Given the description of an element on the screen output the (x, y) to click on. 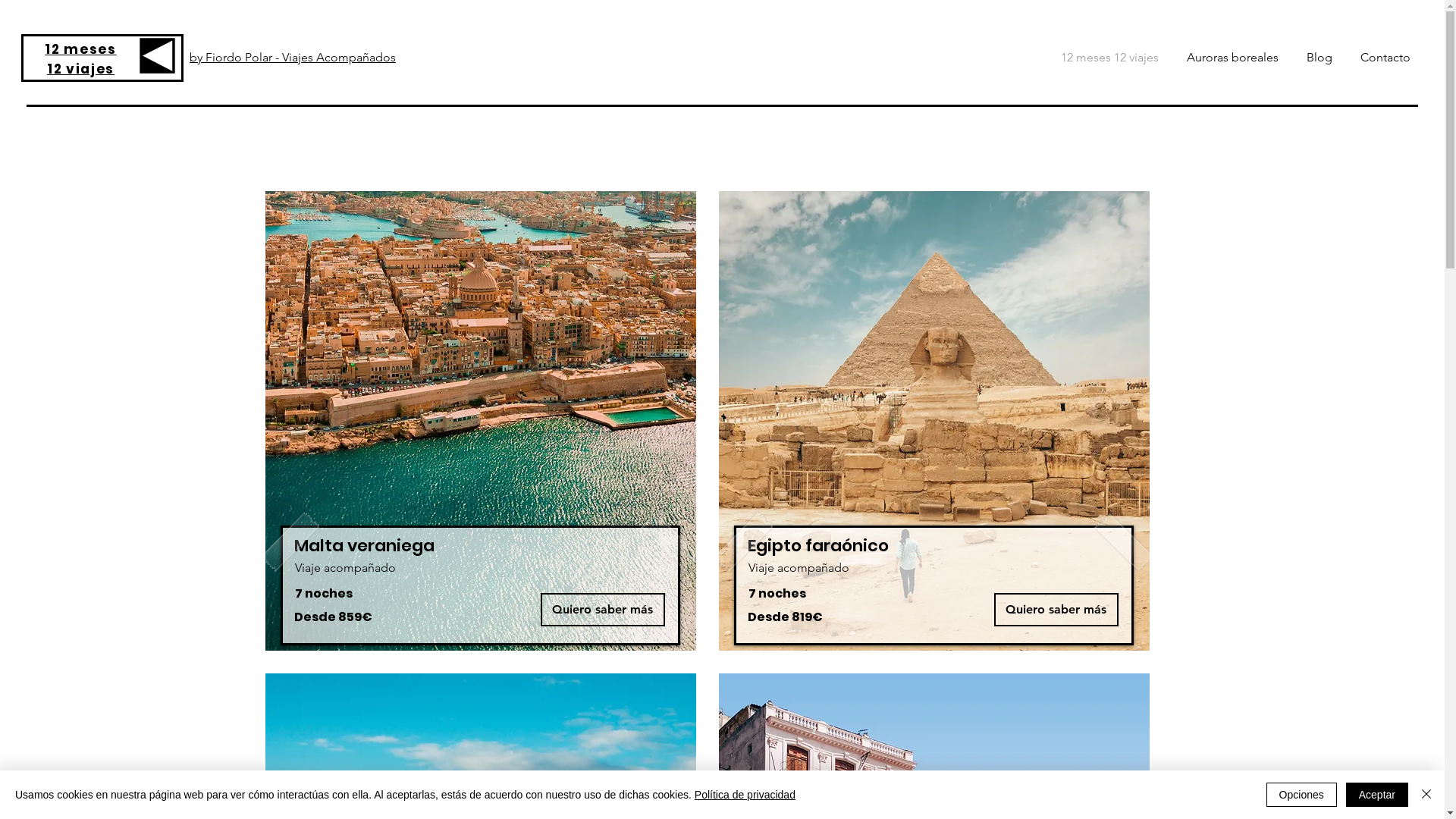
Aceptar Element type: text (1377, 794)
Opciones Element type: text (1301, 794)
12 meses Element type: text (80, 49)
7 noches Element type: text (776, 593)
12 meses 12 viajes Element type: text (1107, 57)
Auroras boreales Element type: text (1229, 57)
Blog Element type: text (1316, 57)
7 noches Element type: text (322, 593)
Malta veraniega Element type: text (364, 545)
Contacto Element type: text (1382, 57)
